Given the description of an element on the screen output the (x, y) to click on. 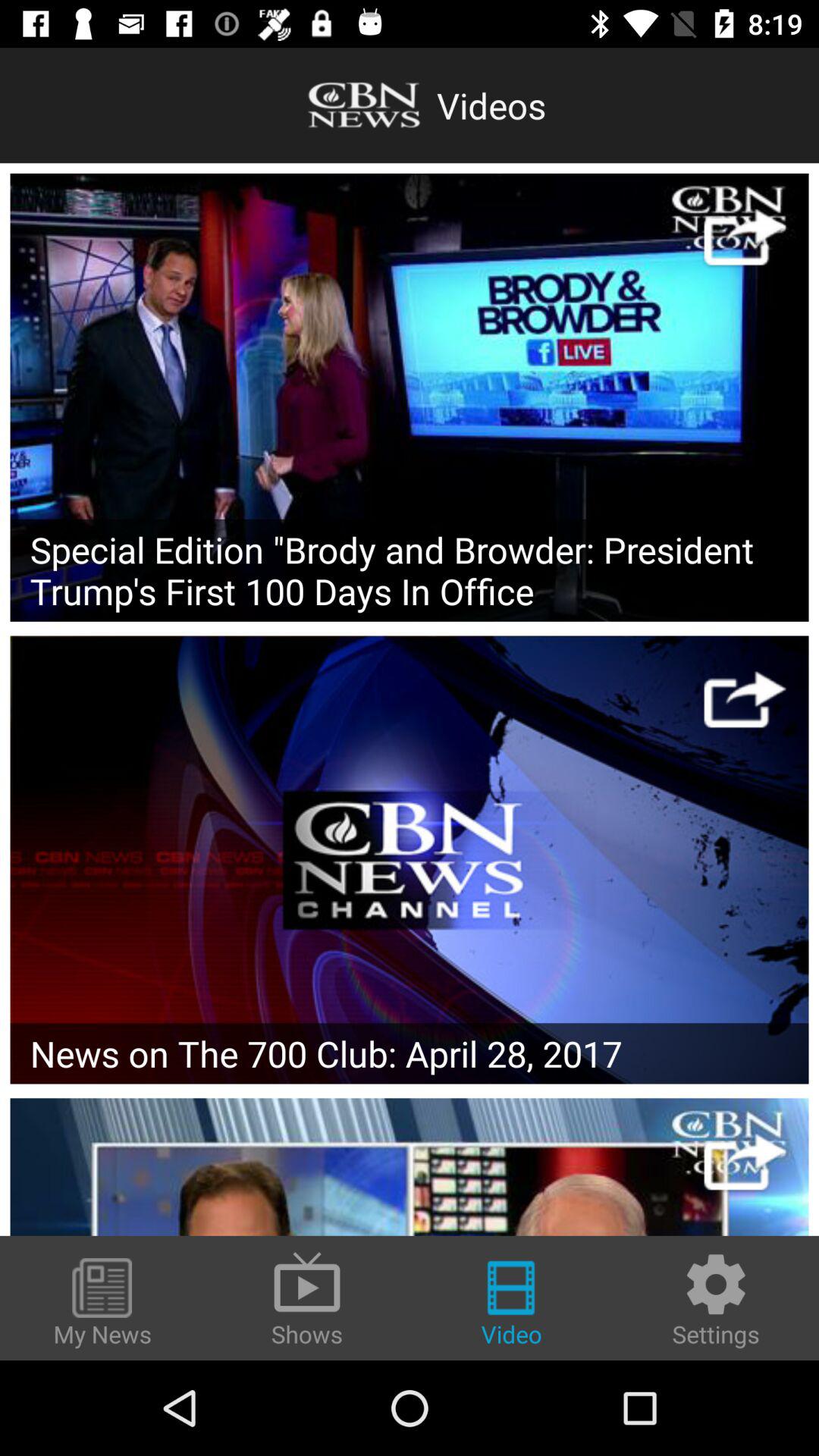
select icon at the bottom left corner (102, 1304)
